Given the description of an element on the screen output the (x, y) to click on. 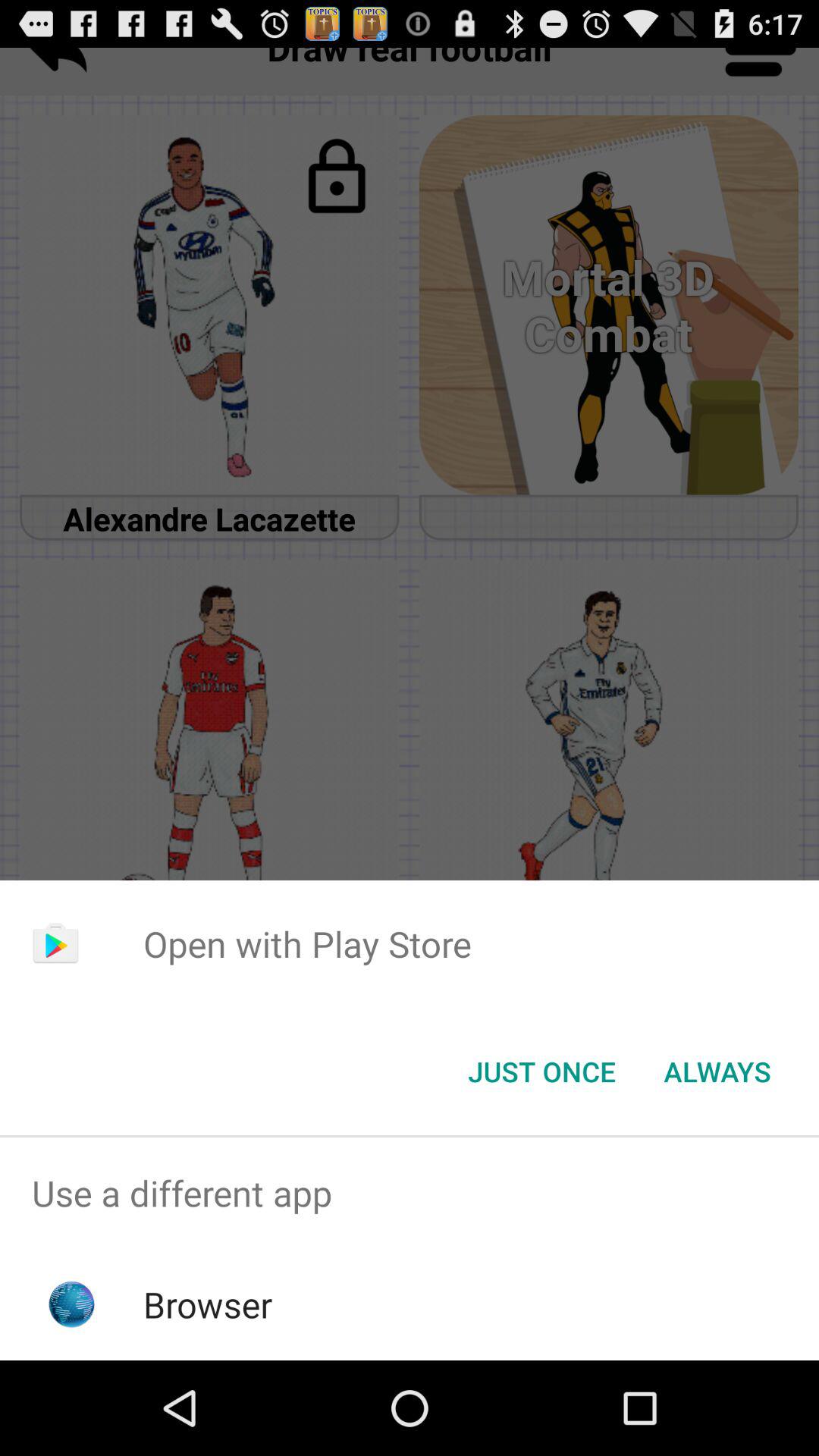
jump to the always button (717, 1071)
